Given the description of an element on the screen output the (x, y) to click on. 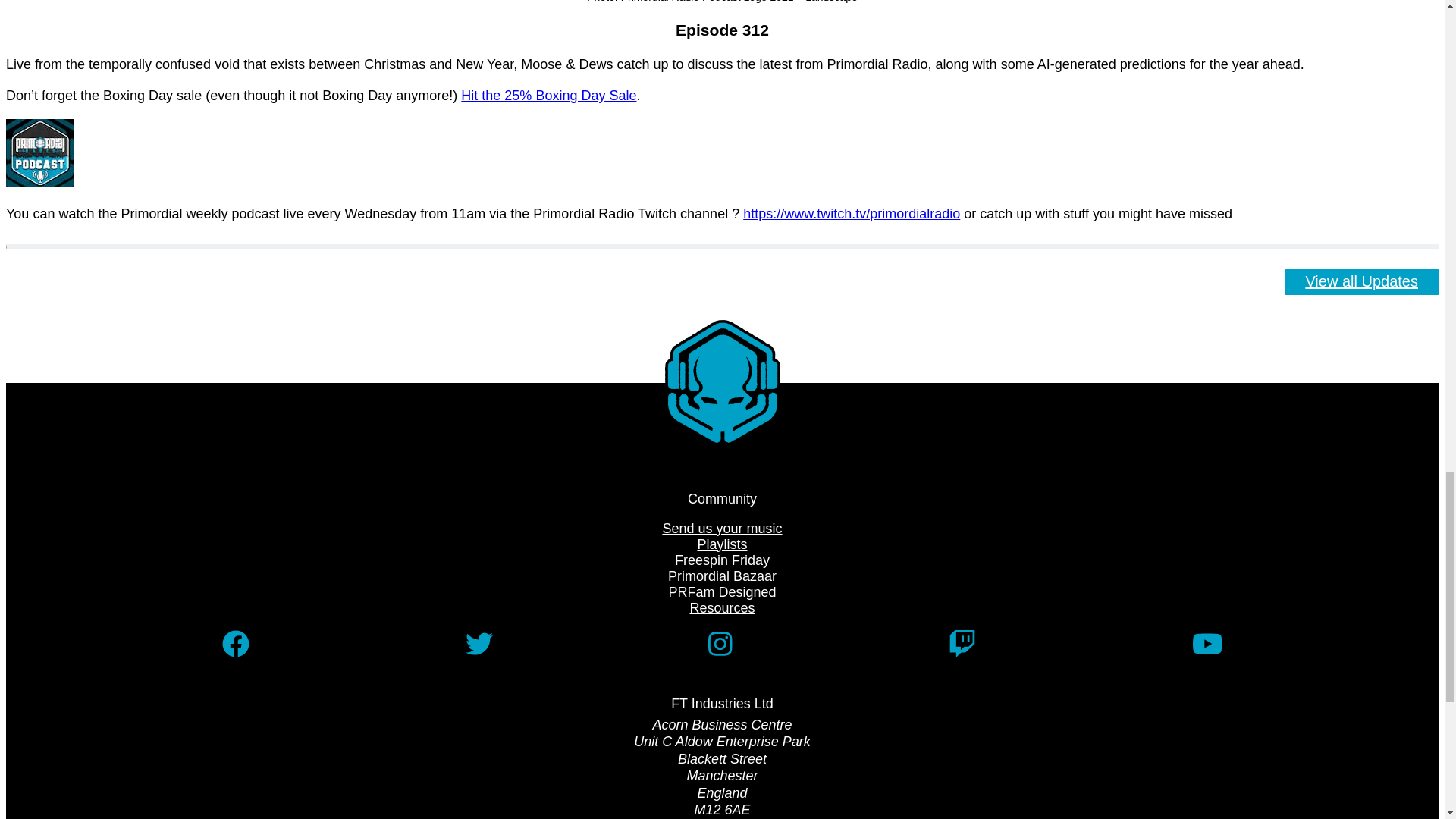
Check out the Primordial Radio Twitch Channel! (850, 213)
